Given the description of an element on the screen output the (x, y) to click on. 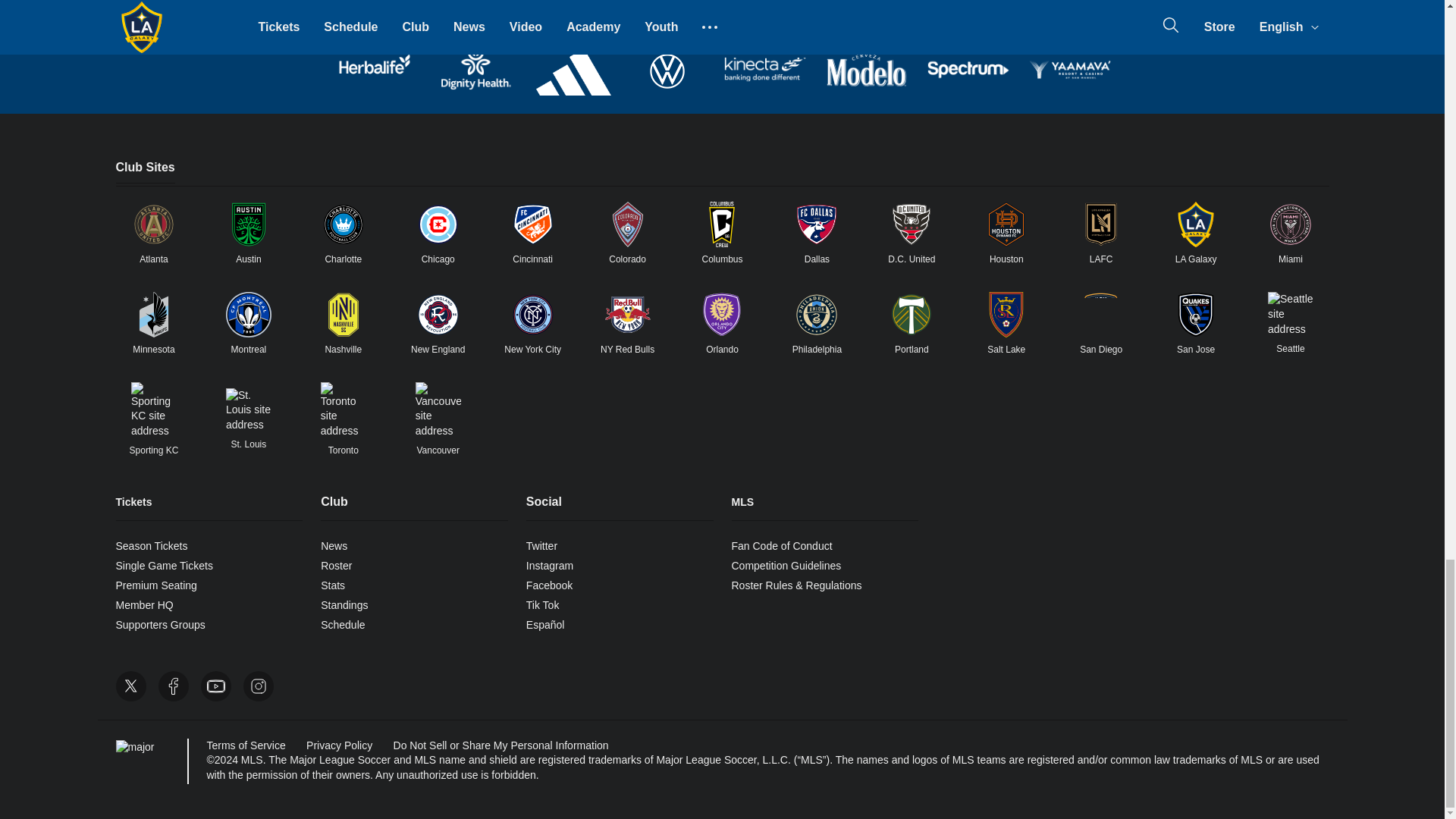
Link to LAFC (1101, 224)
Link to Chicago (437, 224)
Link to Cincinnati (533, 224)
Link to Houston (1006, 224)
Link to Miami (1290, 224)
Link to Atlanta (153, 224)
Link to Dallas (816, 224)
Link to Minnesota (153, 314)
Link to Colorado (627, 224)
Link to LA Galaxy (1195, 224)
